Given the description of an element on the screen output the (x, y) to click on. 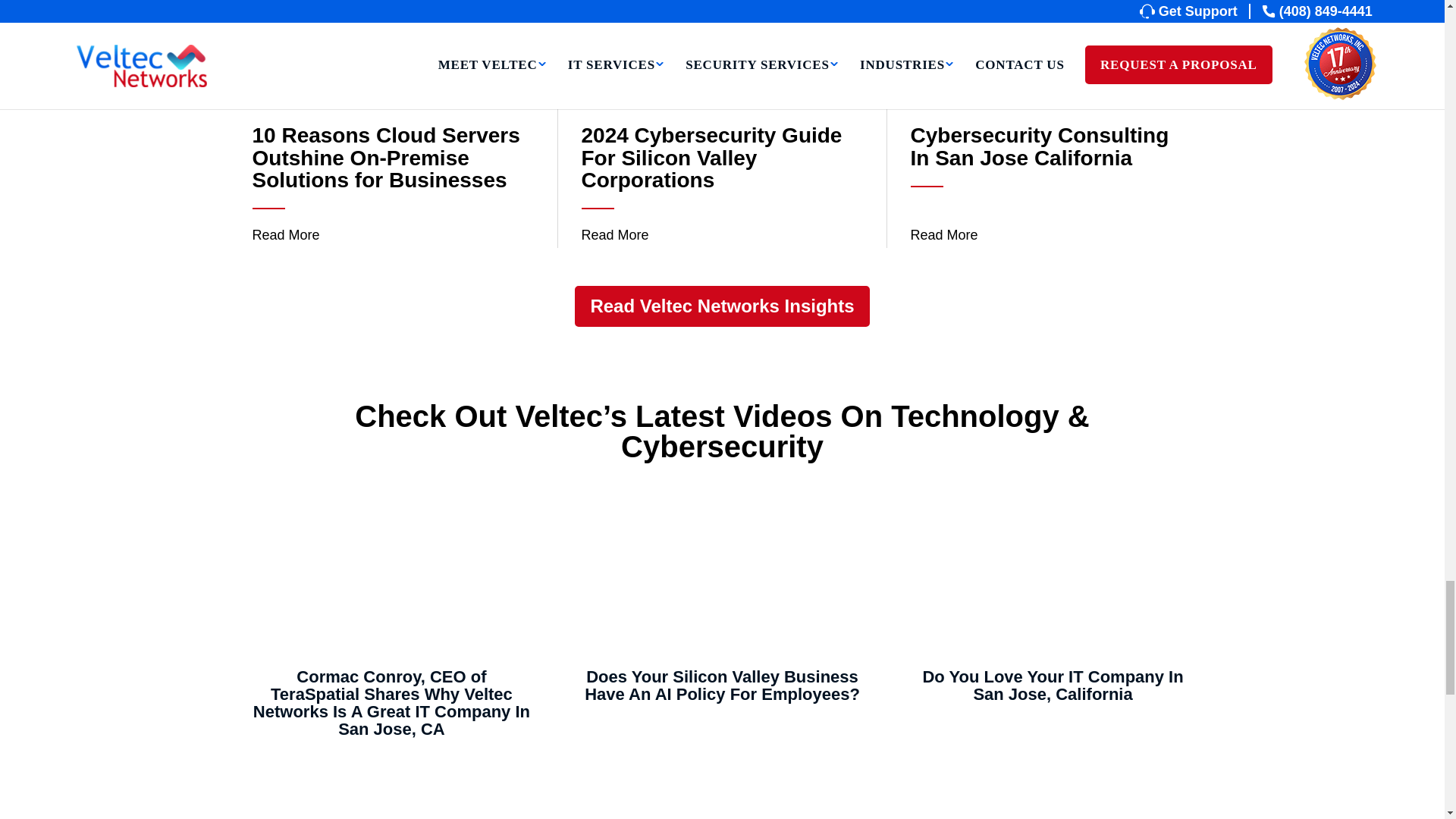
Pro Tips On Selecting The Brand New IT Company In 2024 (722, 789)
Outsourced IT Director San Francisco Bay Area (1053, 789)
Cybersecurity Consulting In San Jose California (391, 789)
Do You Love Your IT Company In San Jose, California (1053, 577)
